Given the description of an element on the screen output the (x, y) to click on. 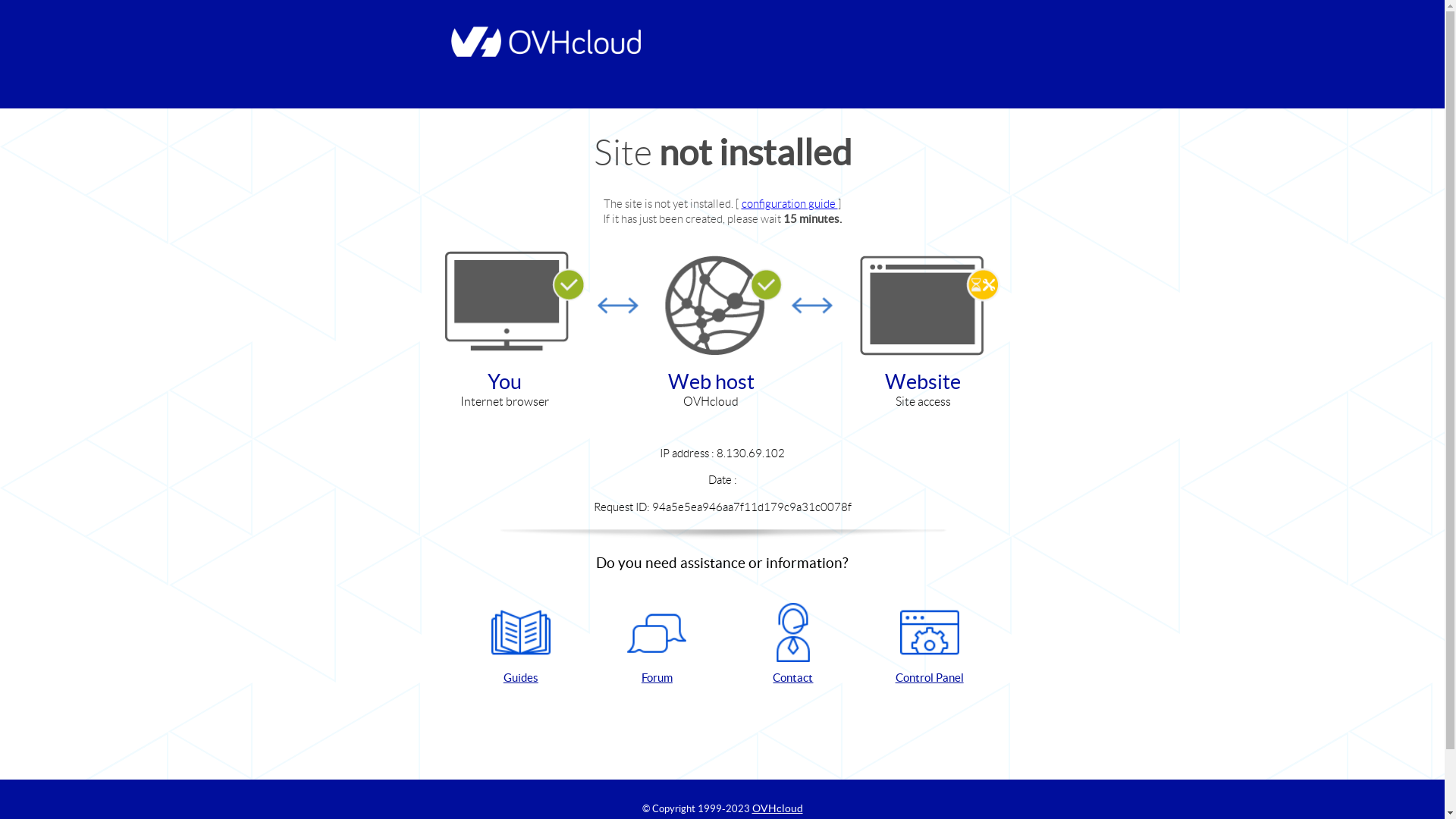
Control Panel Element type: text (929, 644)
Forum Element type: text (656, 644)
Guides Element type: text (520, 644)
configuration guide Element type: text (789, 203)
OVHcloud Element type: text (777, 808)
Contact Element type: text (792, 644)
